Given the description of an element on the screen output the (x, y) to click on. 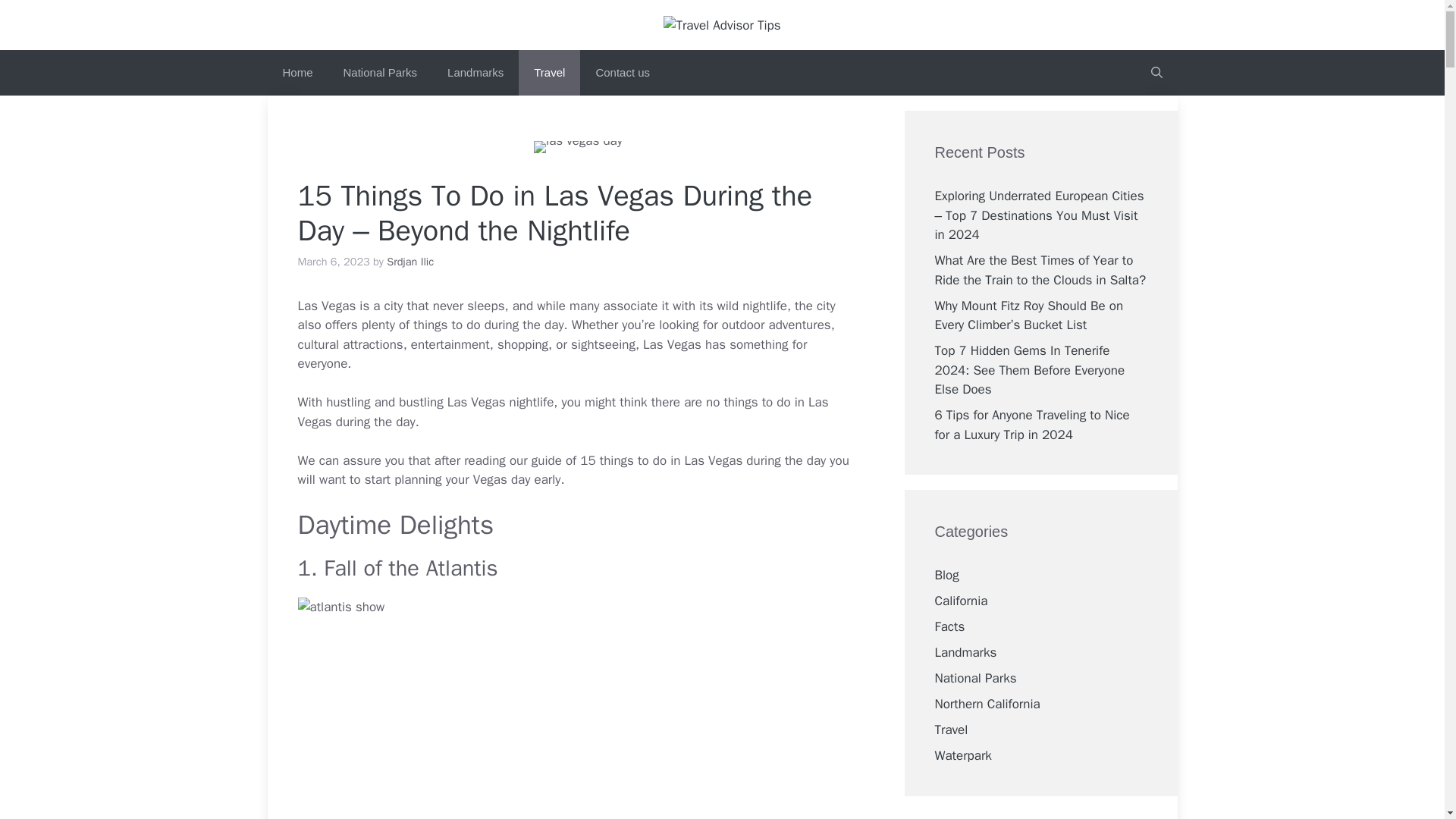
Northern California (986, 703)
Waterpark (962, 755)
California (960, 600)
Travel (548, 72)
Blog (946, 575)
Facts (948, 626)
Travel (951, 729)
Contact us (622, 72)
Landmarks (964, 652)
Srdjan Ilic (410, 261)
Home (296, 72)
View all posts by Srdjan Ilic (410, 261)
National Parks (975, 678)
